Given the description of an element on the screen output the (x, y) to click on. 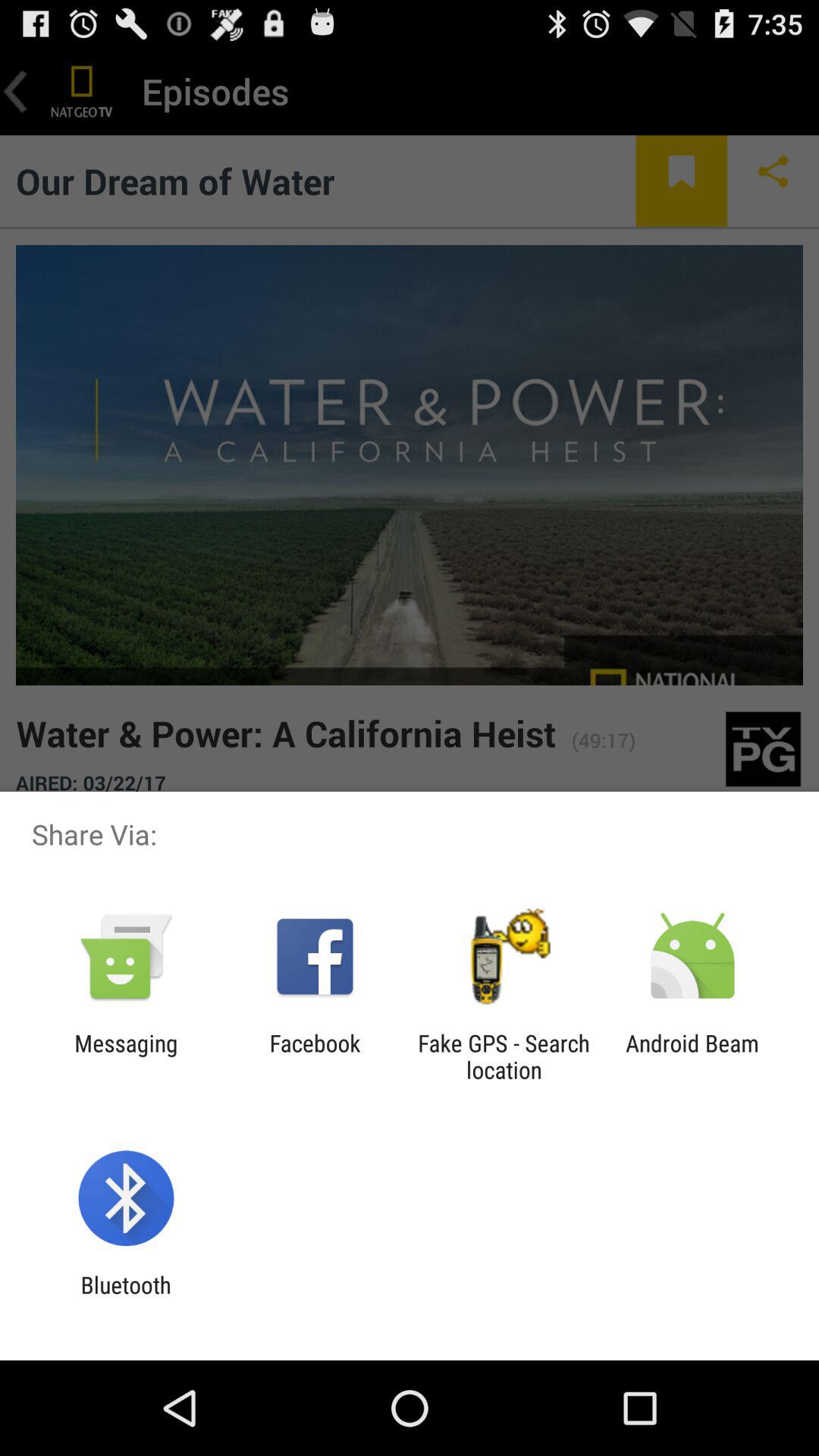
press icon next to fake gps search icon (692, 1056)
